Given the description of an element on the screen output the (x, y) to click on. 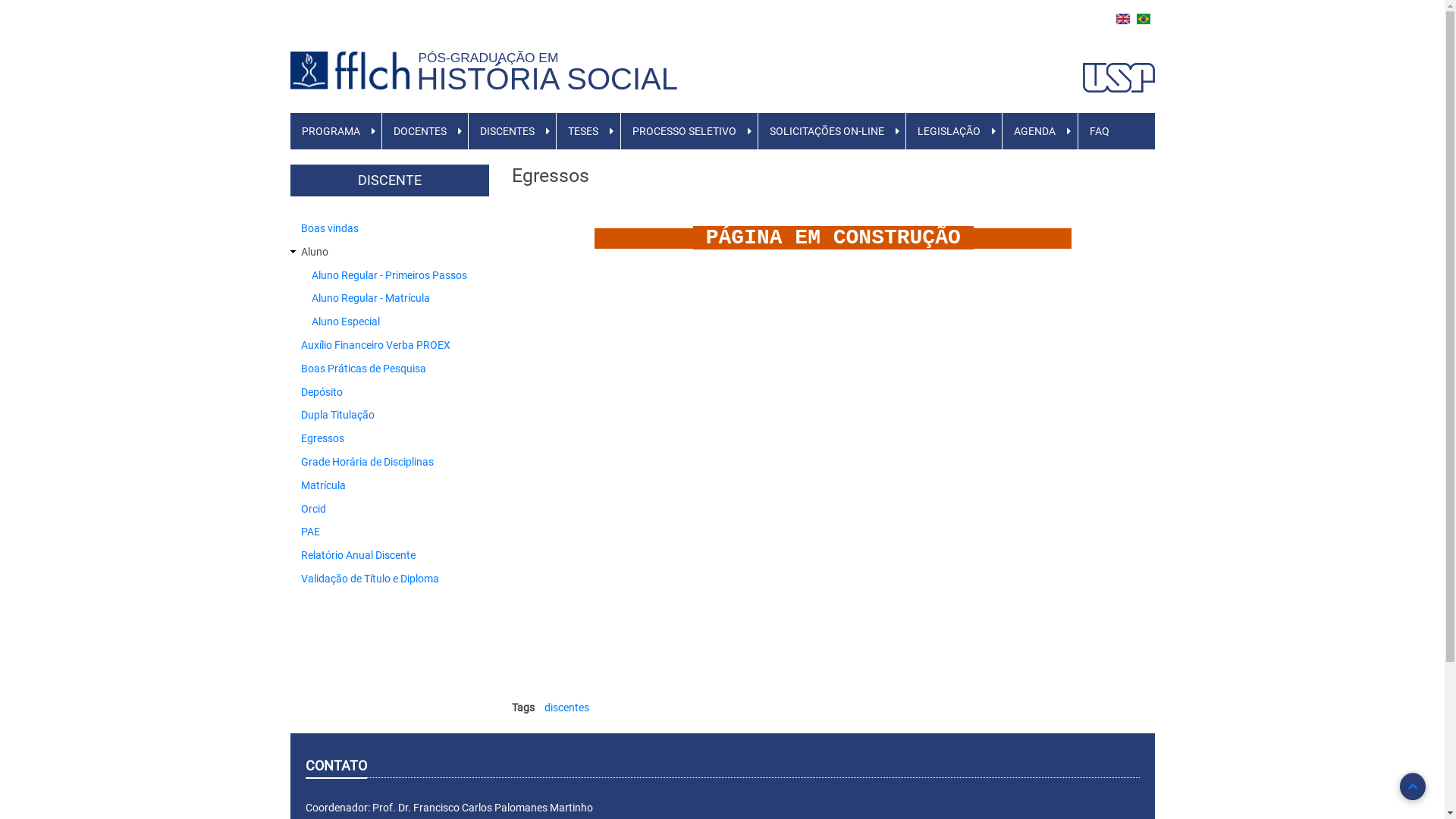
Orcid Element type: text (312, 508)
TESES Element type: text (582, 130)
Portuguese, Brazil Element type: hover (1142, 18)
PROCESSO SELETIVO Element type: text (683, 130)
PROGRAMA Element type: text (329, 130)
discentes Element type: text (566, 707)
DOCENTES Element type: text (420, 130)
PAE Element type: text (309, 531)
Boas vindas Element type: text (328, 228)
English Element type: hover (1122, 18)
AGENDA Element type: text (1034, 130)
Aluno Regular - Primeiros Passos Element type: text (388, 275)
DISCENTES Element type: text (507, 130)
FAQ Element type: text (1099, 130)
Back to Top Element type: hover (1412, 786)
Egressos Element type: text (321, 438)
Aluno Especial Element type: text (344, 321)
